Given the description of an element on the screen output the (x, y) to click on. 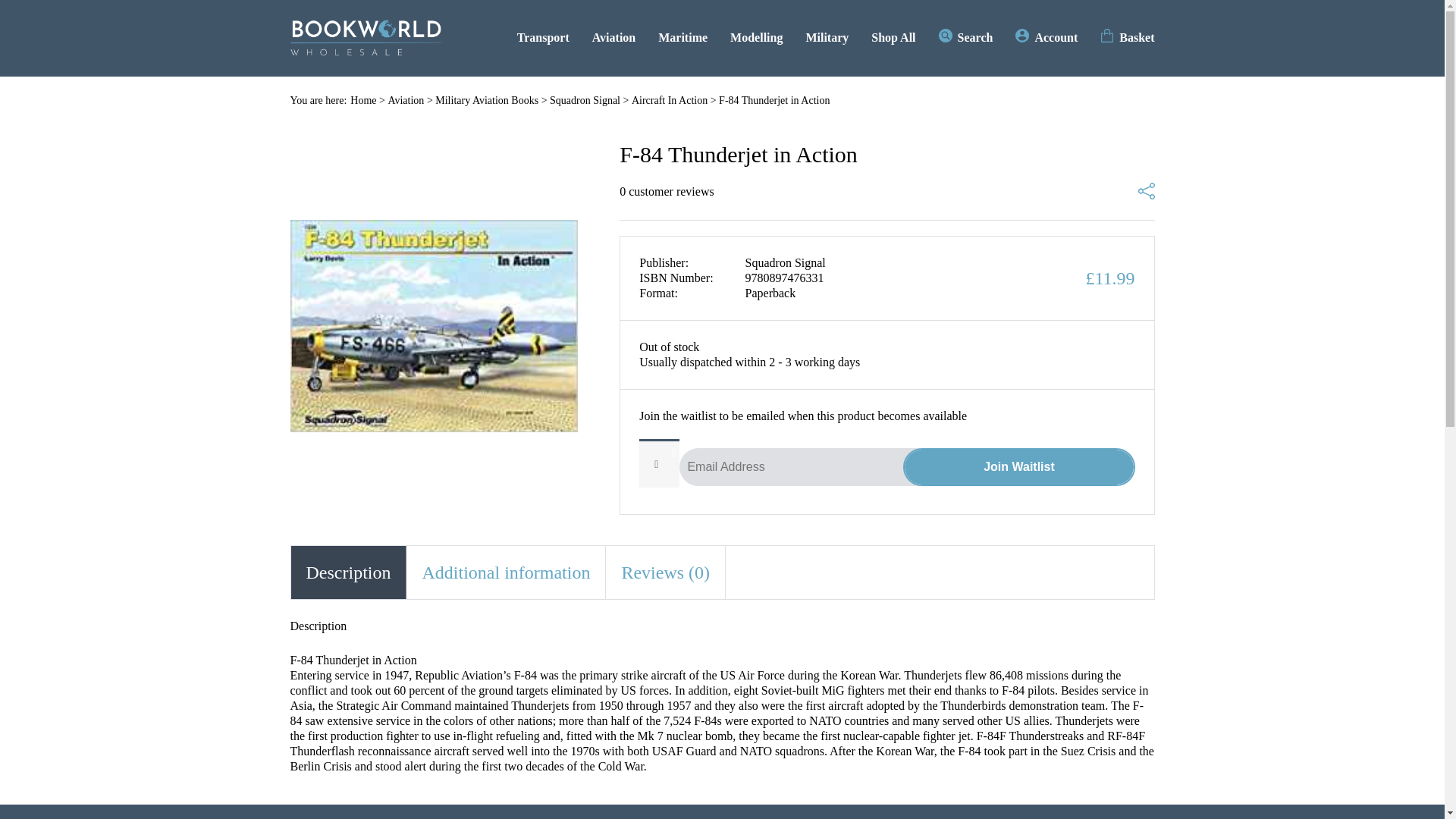
Join Waitlist (1018, 466)
Search (965, 37)
thunderjet (433, 326)
Squadron Signal (585, 100)
Military Aviation Books (486, 100)
Description (349, 572)
Home (362, 100)
Modelling (756, 37)
Aircraft In Action (669, 100)
Additional information (505, 572)
Transport (542, 37)
Dismiss notification (673, 453)
Aviation (405, 100)
Aviation (613, 37)
Basket (1127, 37)
